Given the description of an element on the screen output the (x, y) to click on. 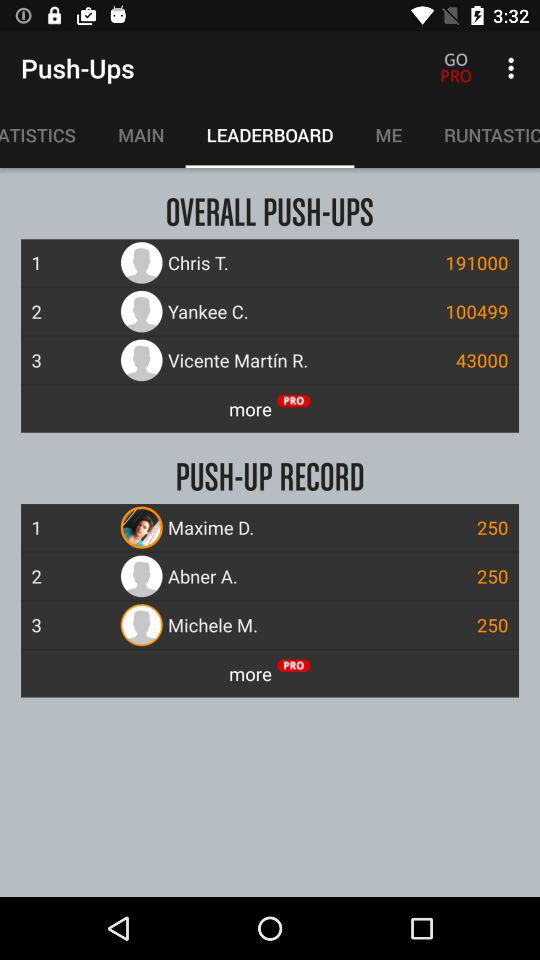
choose item above the runtastic apps icon (513, 67)
